Given the description of an element on the screen output the (x, y) to click on. 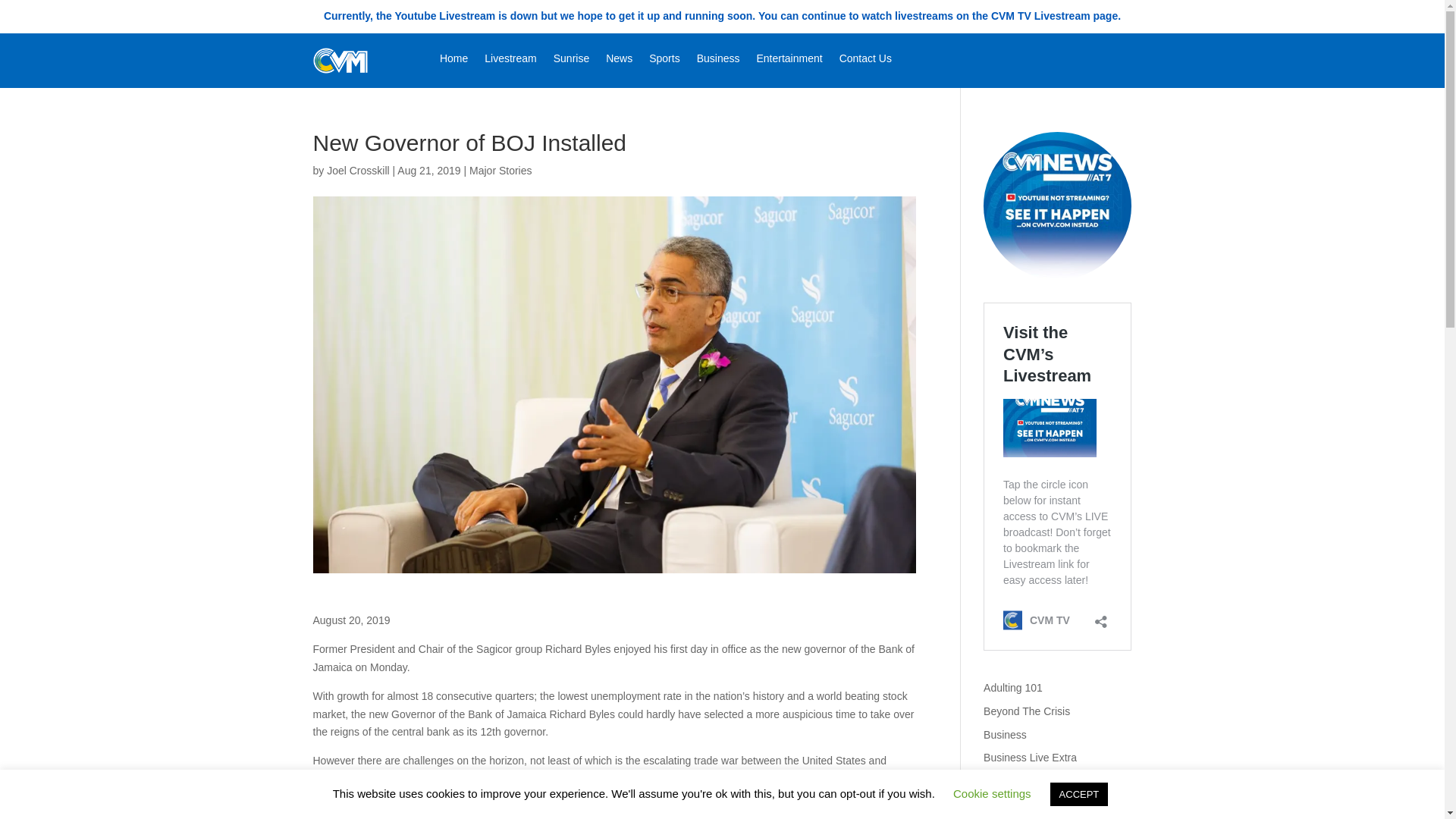
Beyond The Crisis (1027, 711)
COVID-19 (1008, 804)
LIVE (1057, 205)
Posts by Joel Crosskill (357, 170)
Sports (664, 61)
Business Live Extra (1030, 757)
Livestream (509, 61)
Entertainment (788, 61)
Business (718, 61)
Home (453, 61)
News (618, 61)
Adulting 101 (1013, 687)
Business News (1020, 780)
Major Stories (499, 170)
Sunrise (571, 61)
